Given the description of an element on the screen output the (x, y) to click on. 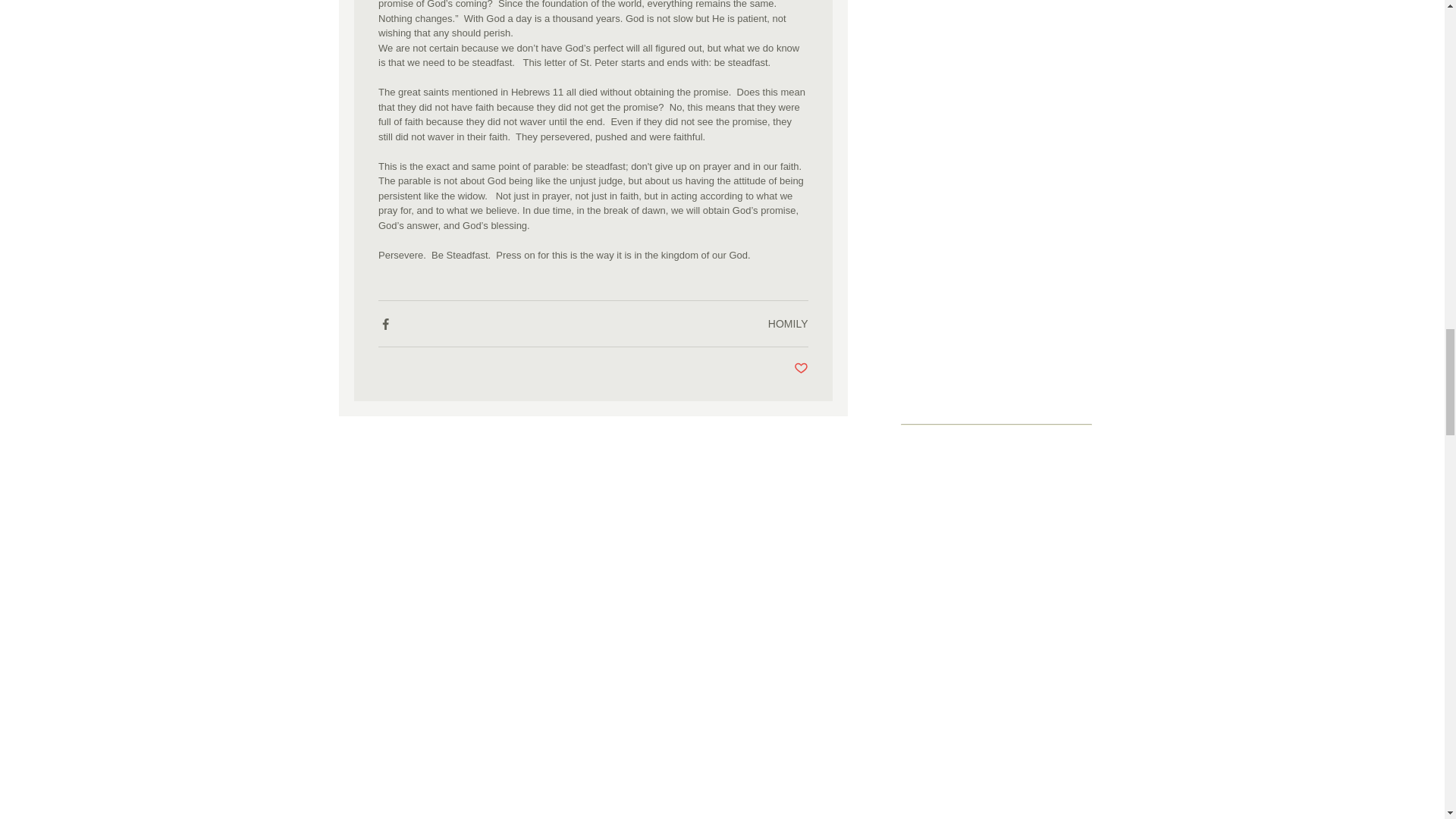
Post not marked as liked (800, 368)
HOMILY (788, 323)
